Given the description of an element on the screen output the (x, y) to click on. 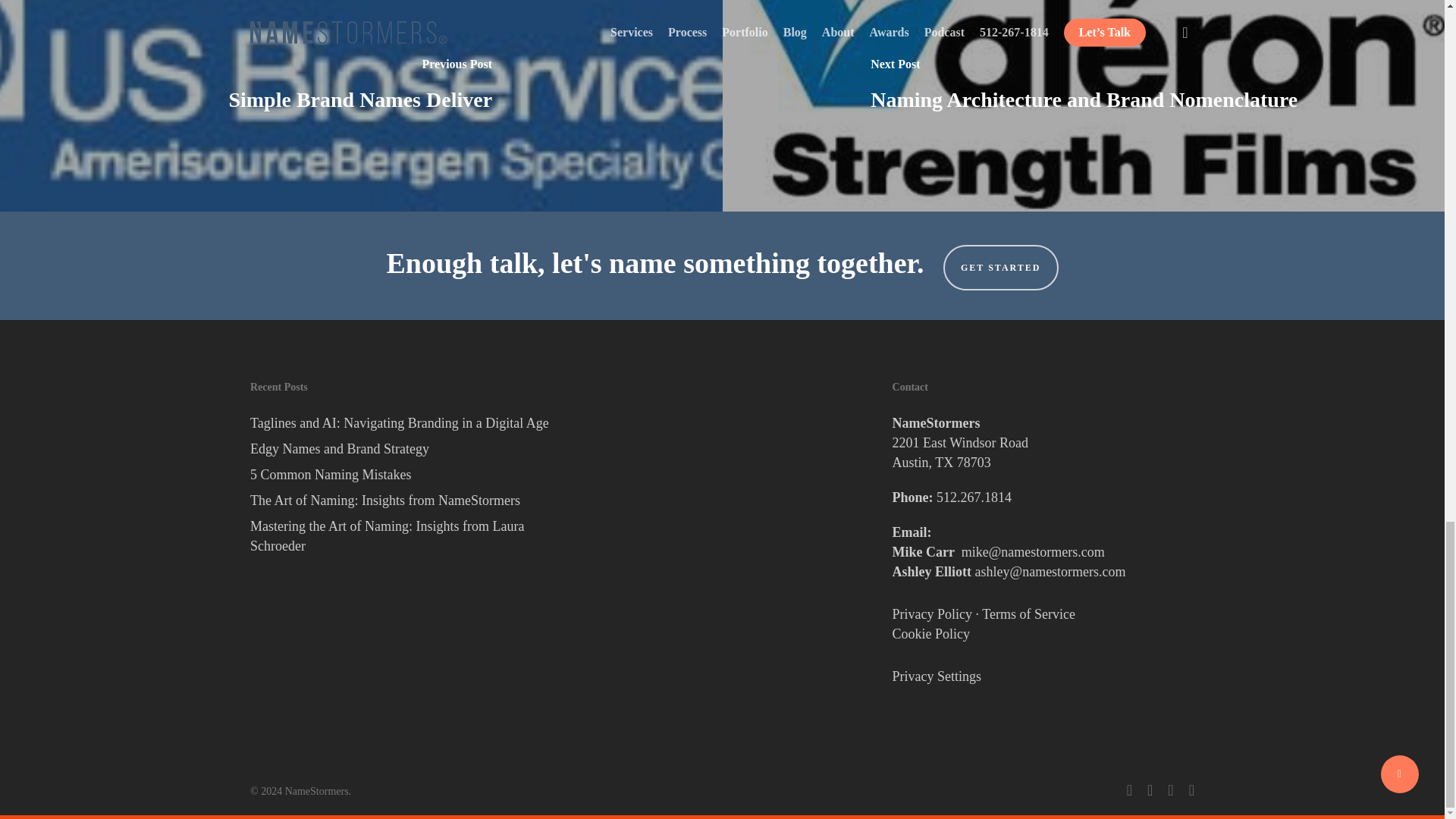
Taglines and AI: Navigating Branding in a Digital Age (400, 423)
Edgy Names and Brand Strategy (400, 448)
GET STARTED (1000, 267)
